Given the description of an element on the screen output the (x, y) to click on. 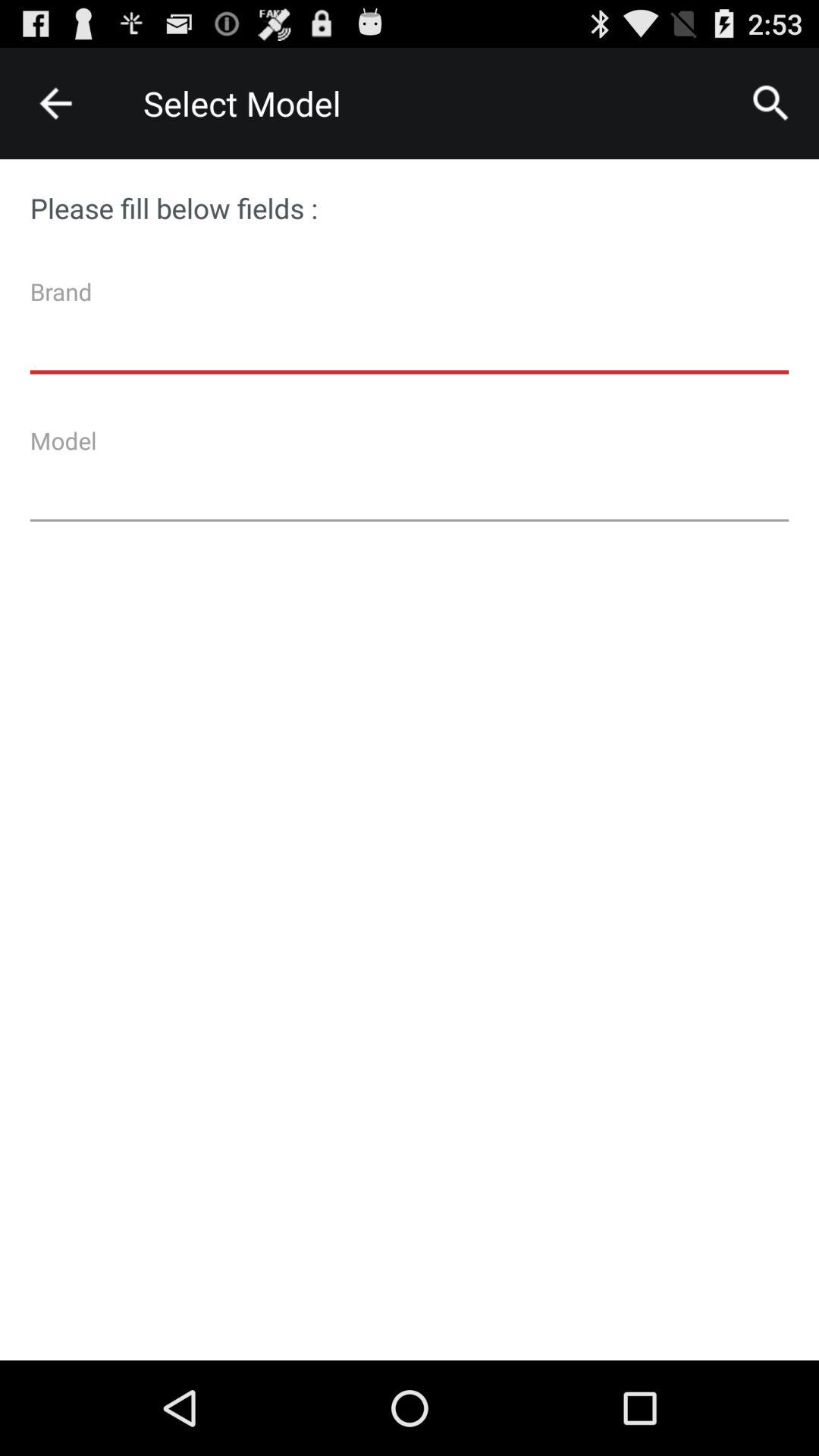
model space (409, 480)
